Given the description of an element on the screen output the (x, y) to click on. 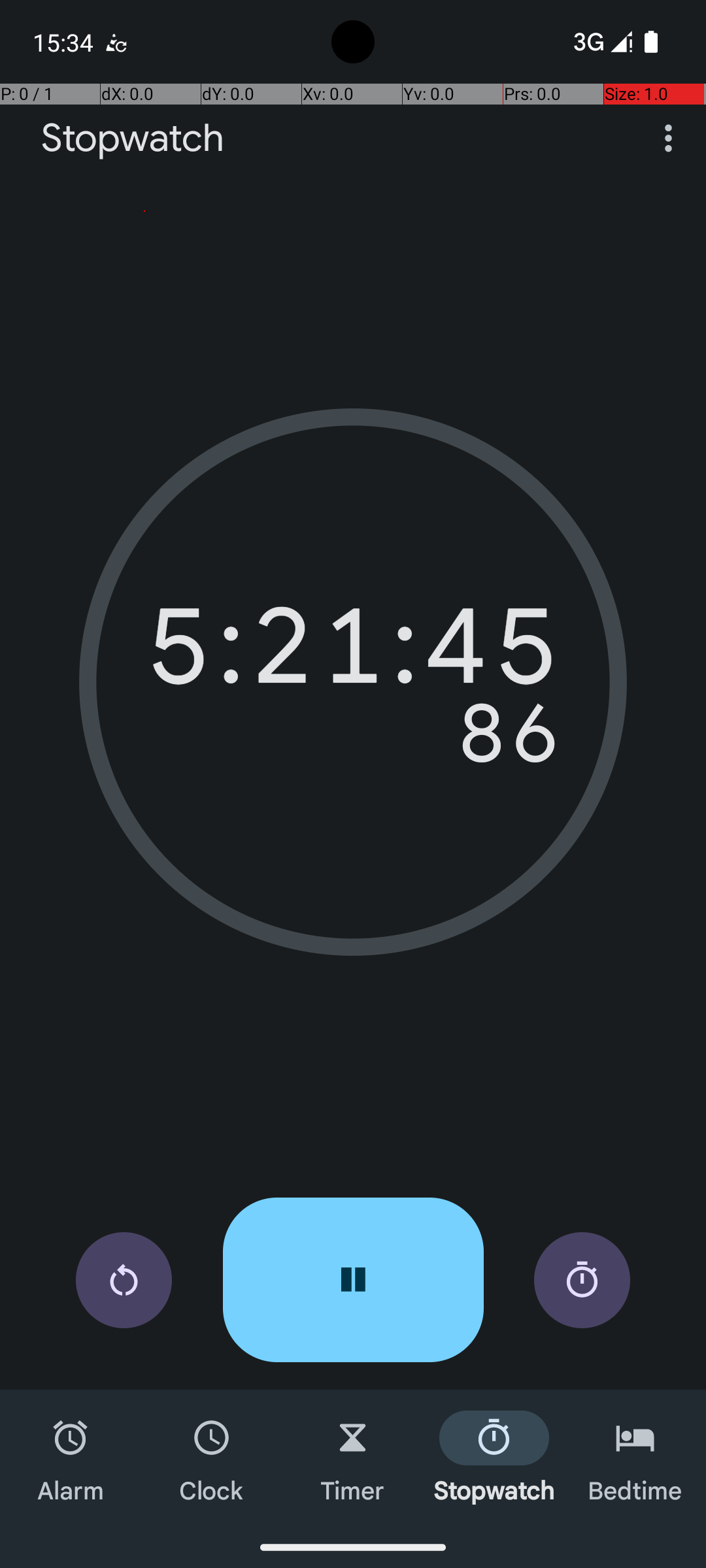
5:21:45 Element type: android.widget.TextView (352, 652)
